Given the description of an element on the screen output the (x, y) to click on. 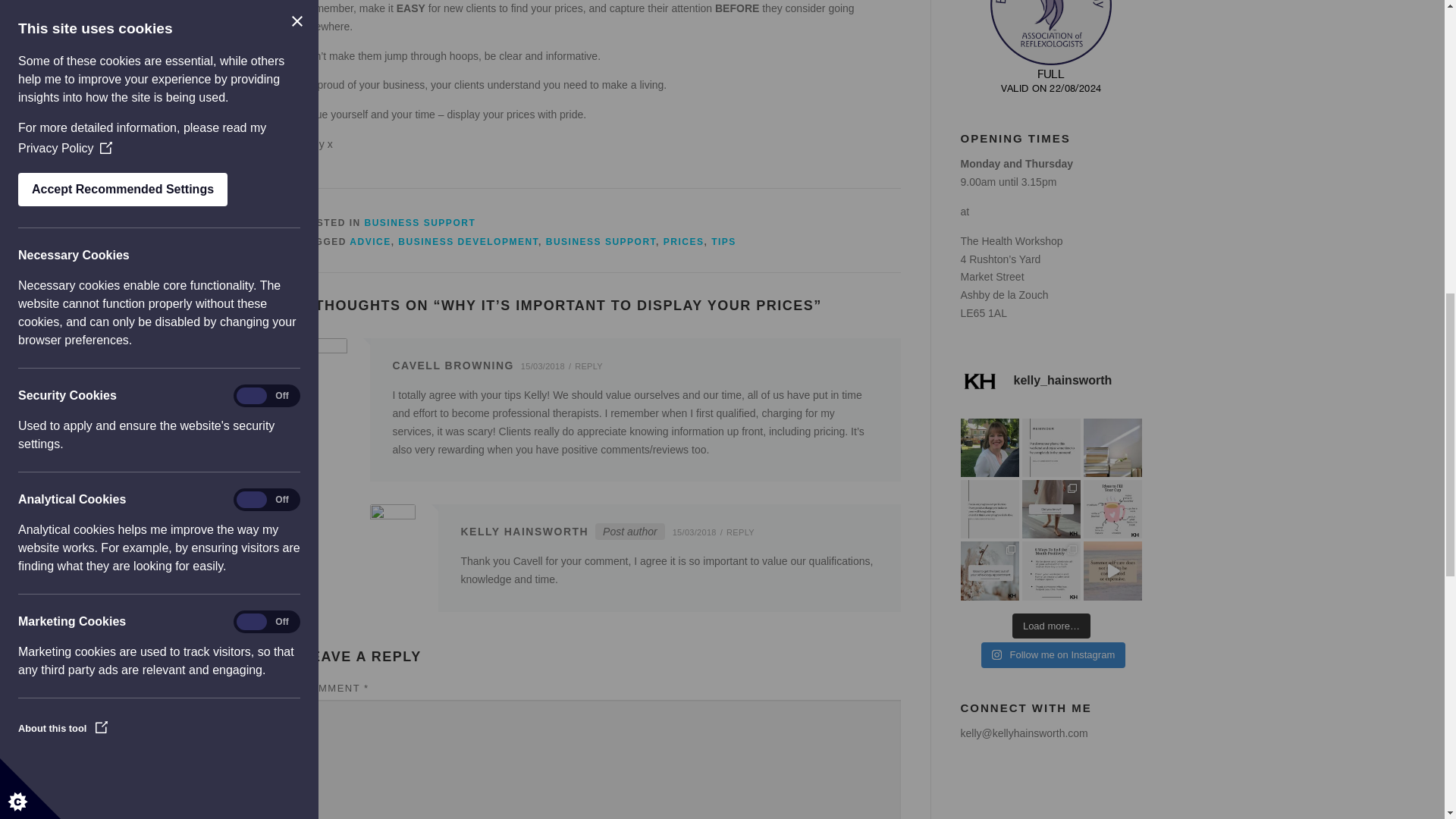
PRICES (683, 241)
TIPS (723, 241)
BUSINESS SUPPORT (420, 222)
ADVICE (369, 241)
BUSINESS DEVELOPMENT (467, 241)
BUSINESS SUPPORT (601, 241)
REPLY (592, 366)
REPLY (743, 532)
